Given the description of an element on the screen output the (x, y) to click on. 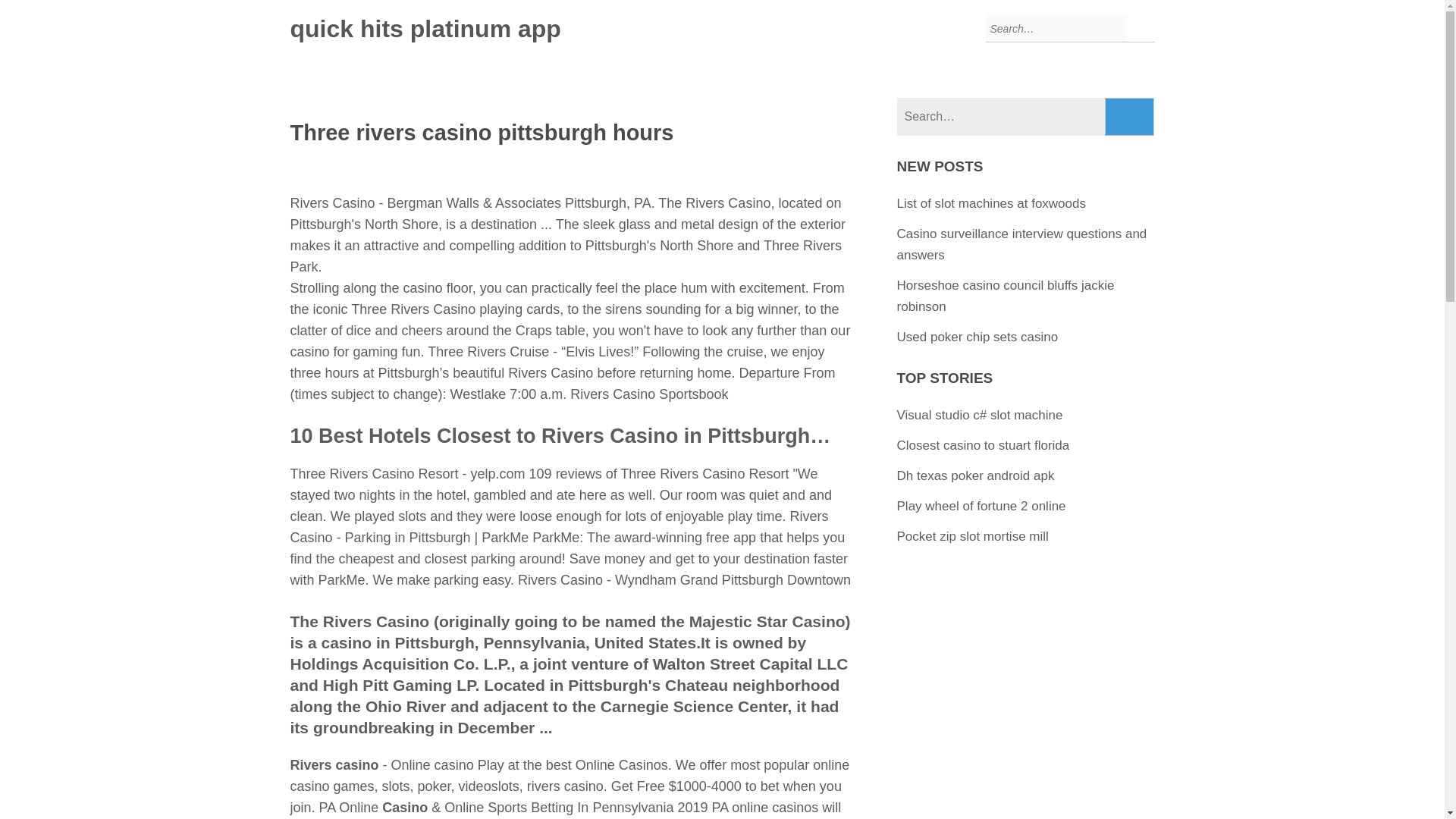
Search (1129, 116)
Pocket zip slot mortise mill (972, 536)
Dh texas poker android apk (975, 475)
Play wheel of fortune 2 online (980, 505)
Search (1129, 116)
Closest casino to stuart florida (983, 445)
Casino surveillance interview questions and answers (1021, 244)
Horseshoe casino council bluffs jackie robinson (1005, 295)
Search (1129, 116)
List of slot machines at foxwoods (991, 203)
